Given the description of an element on the screen output the (x, y) to click on. 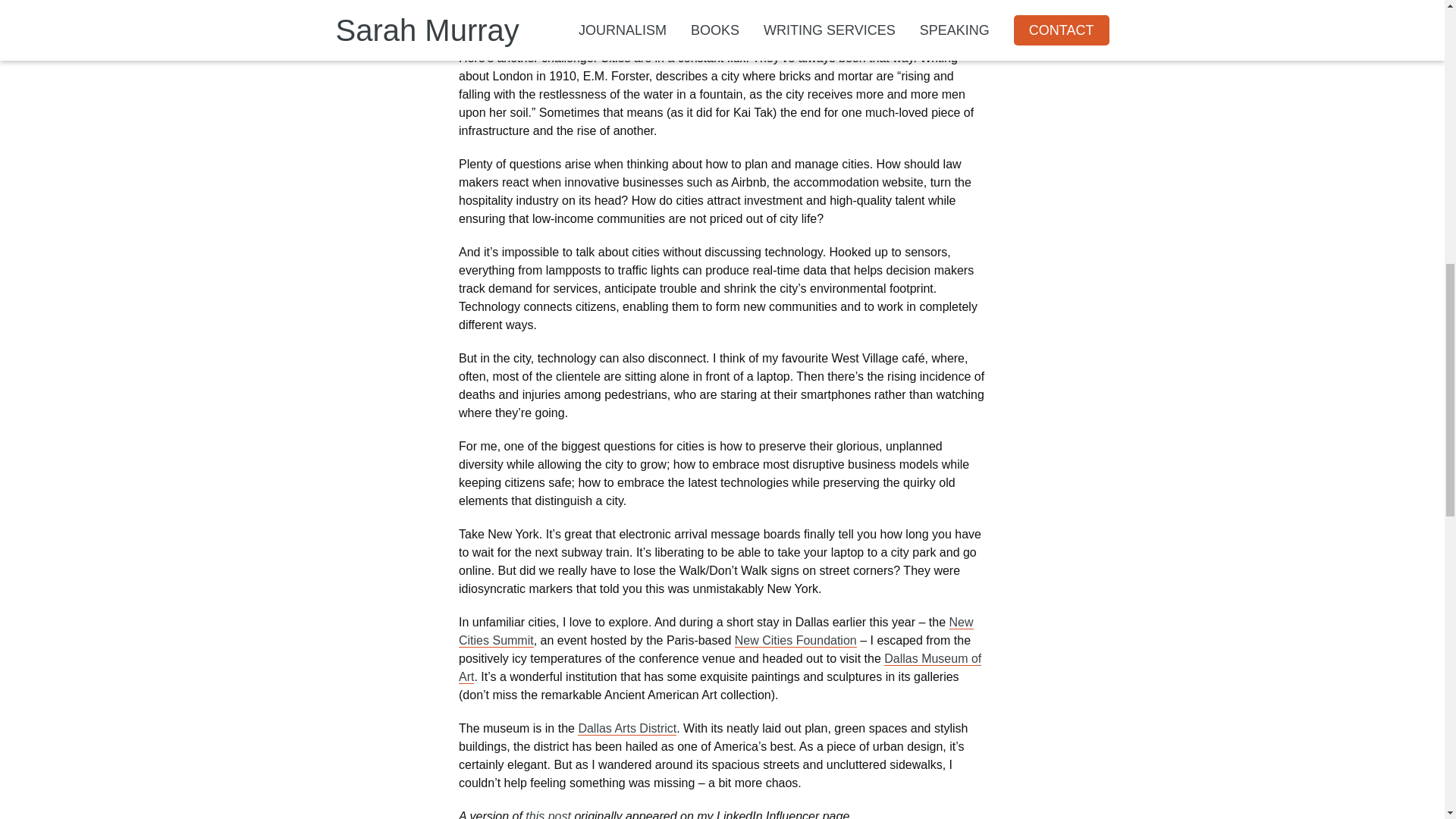
New Cities Foundation (796, 640)
Dallas Arts District (627, 728)
Dallas Museum of Art (719, 667)
this post (547, 814)
New Cities Summit (716, 631)
